Given the description of an element on the screen output the (x, y) to click on. 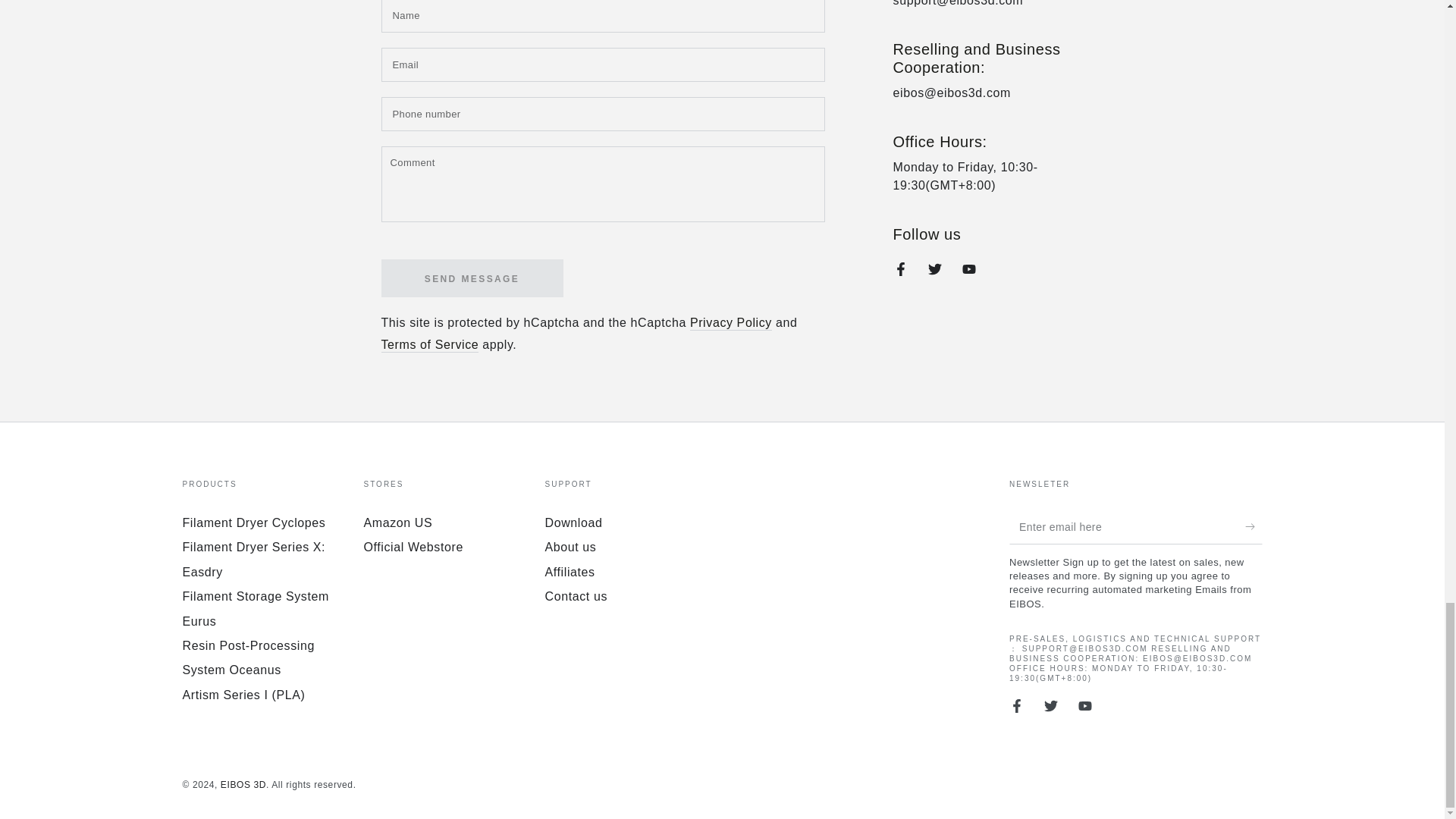
Download (573, 522)
Filament Storage System Eurus (255, 608)
Twitter (935, 269)
Terms of Service (429, 345)
Official Webstore (413, 546)
Facebook (900, 269)
Privacy Policy (730, 323)
Resin Post-Processing System Oceanus (248, 657)
Filament Dryer Cyclopes (253, 522)
SEND MESSAGE (471, 278)
Filament Dryer Series X: Easdry (253, 559)
Amazon US (398, 522)
About us (569, 546)
YouTube (968, 269)
